Given the description of an element on the screen output the (x, y) to click on. 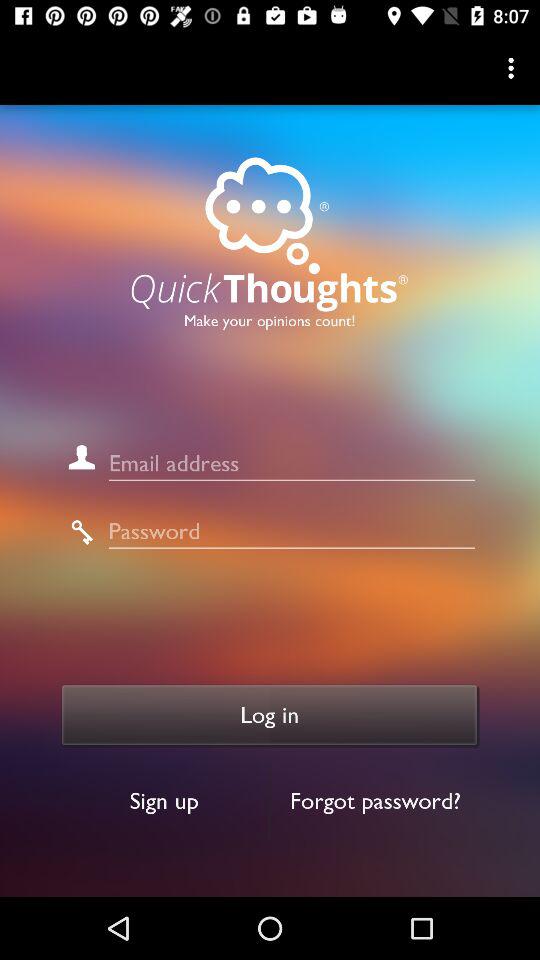
select icon at the bottom right corner (375, 800)
